Given the description of an element on the screen output the (x, y) to click on. 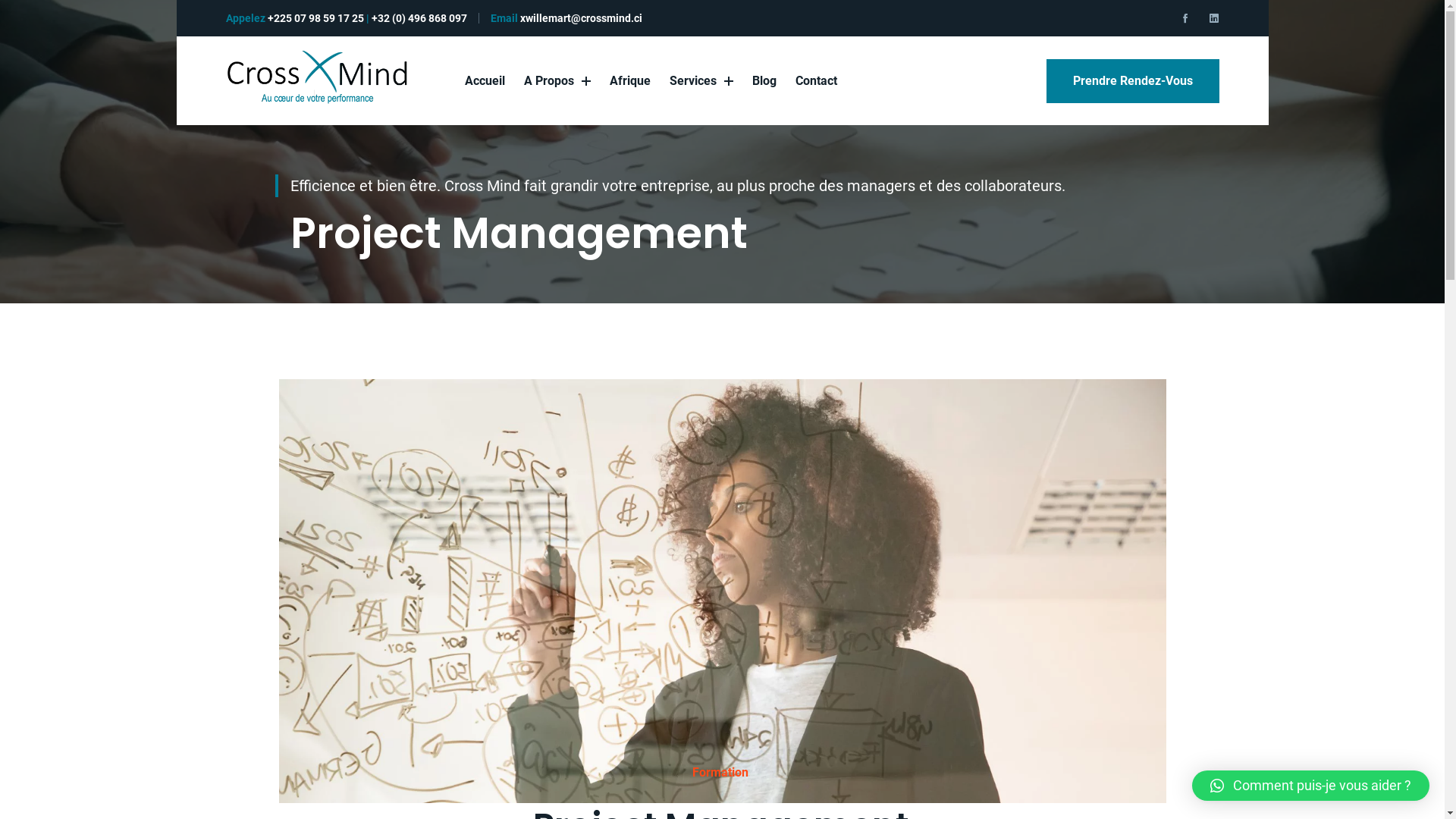
Blog Element type: text (764, 80)
+32 (0) 496 868 097 Element type: text (419, 18)
Comment puis-je vous aider ? Element type: text (1310, 785)
Afrique Element type: text (629, 80)
+225 07 98 59 17 25 Element type: text (314, 18)
Services Element type: text (701, 80)
Accueil Element type: text (484, 80)
Prendre Rendez-Vous Element type: text (1132, 81)
A Propos Element type: text (557, 80)
Contact Element type: text (816, 80)
xwillemart@crossmind.ci Element type: text (581, 18)
